Given the description of an element on the screen output the (x, y) to click on. 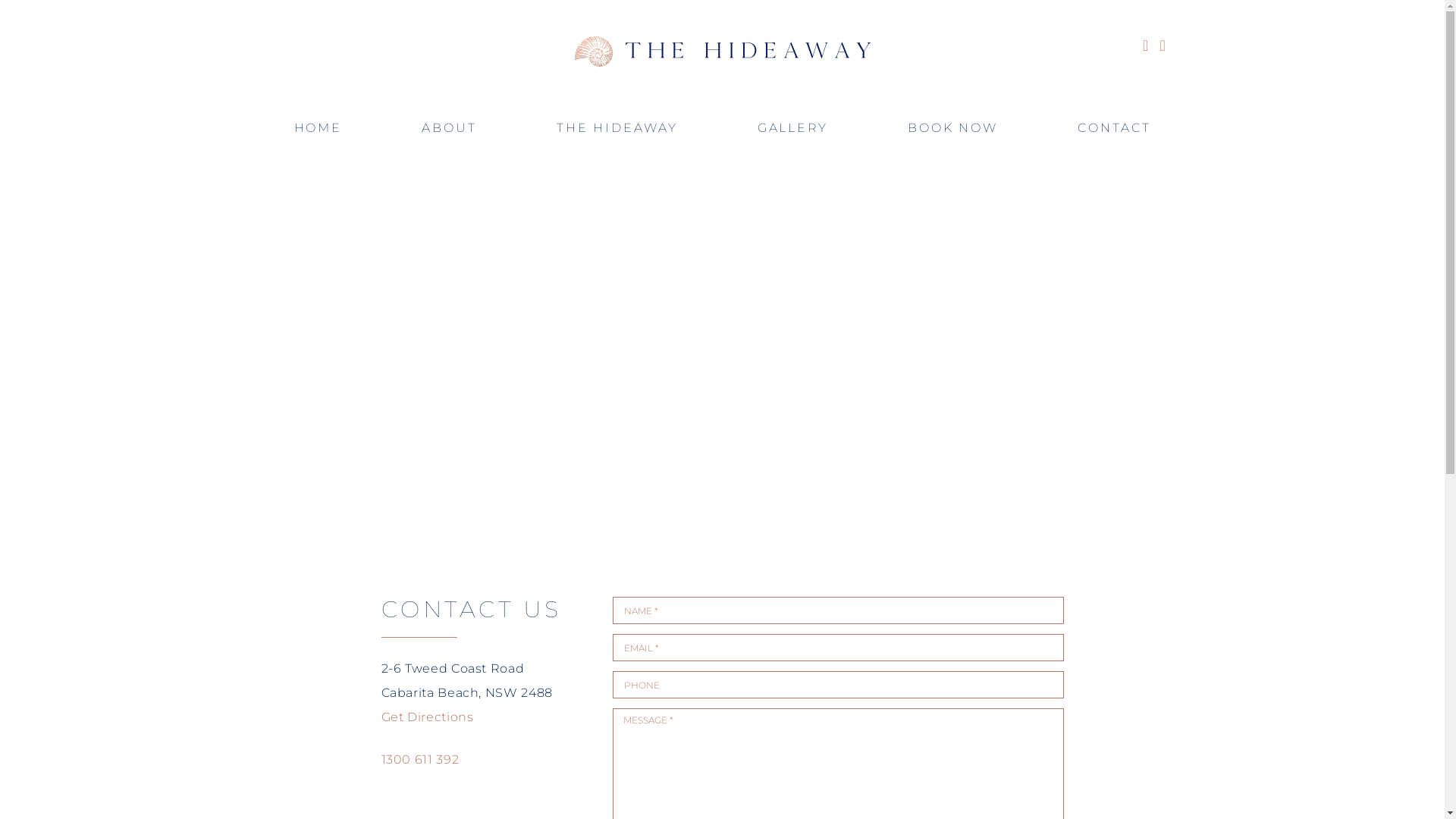
BOOK NOW Element type: text (952, 129)
ABOUT Element type: text (448, 129)
GALLERY Element type: text (792, 129)
Get Directions Element type: text (426, 716)
1300 611 392 Element type: text (419, 759)
THE HIDEAWAY Element type: text (616, 129)
CONTACT Element type: text (1113, 129)
HOME Element type: text (318, 129)
